Given the description of an element on the screen output the (x, y) to click on. 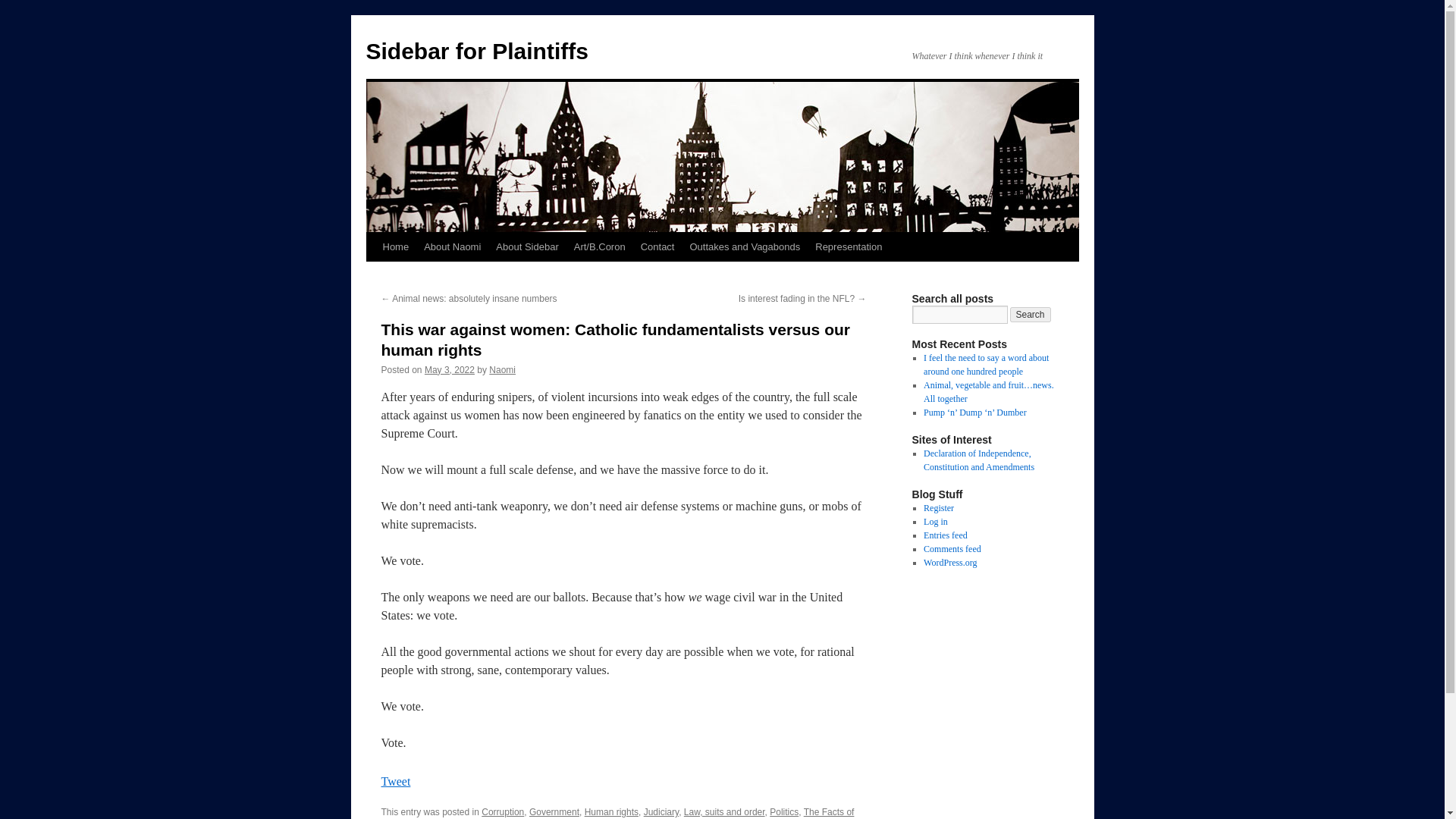
May 3, 2022 (449, 369)
Contact (657, 246)
Representation (848, 246)
Search (1030, 314)
Tweet (395, 780)
View all posts by Naomi (502, 369)
Law, suits and order (724, 811)
Declaration of Independence, Constitution and Amendments (978, 459)
Human rights (612, 811)
Home (395, 246)
